Given the description of an element on the screen output the (x, y) to click on. 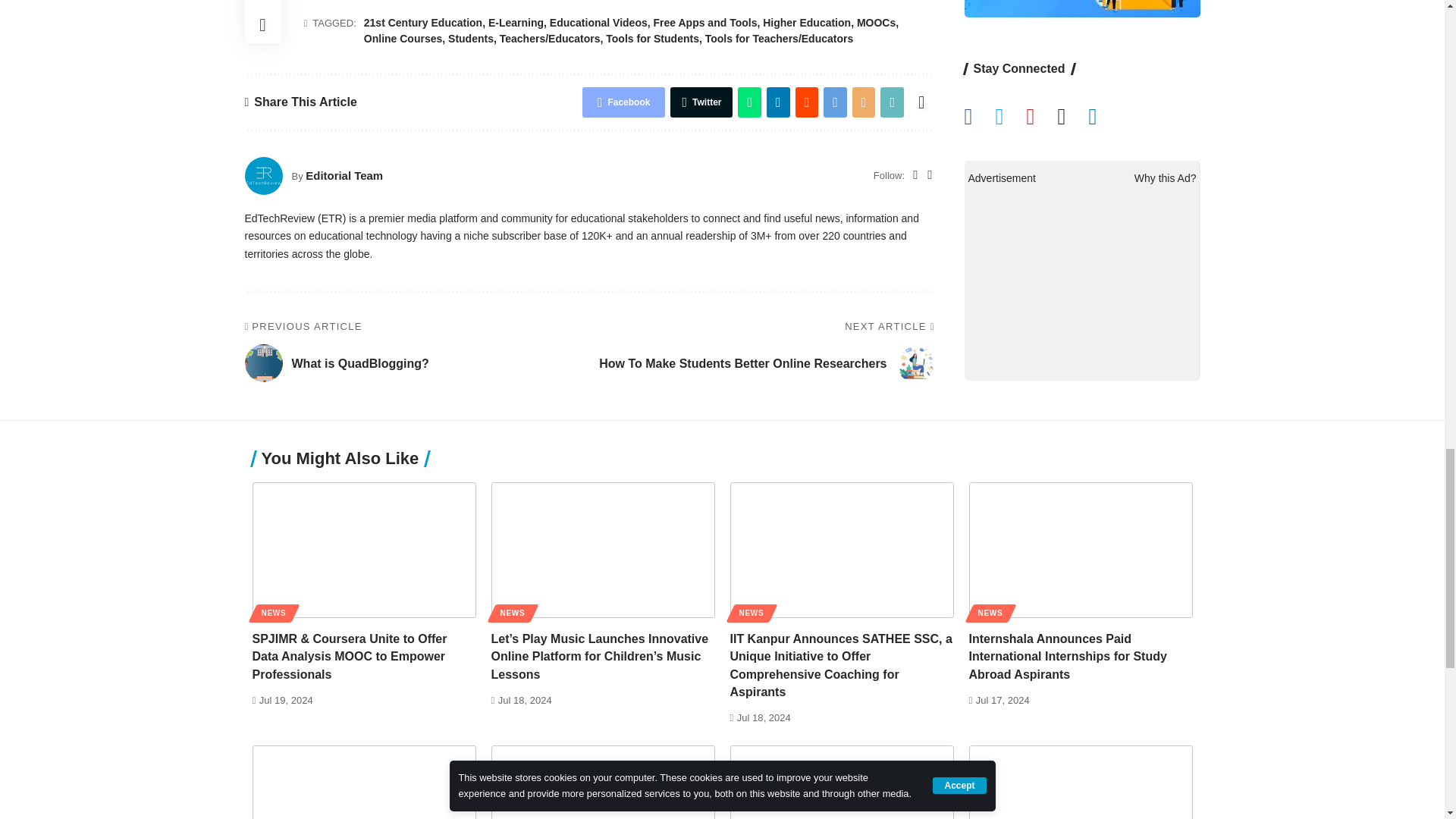
How to Make Students Better Online Researchers (915, 362)
Editorial Team Icon 2 (263, 175)
Quadblogging Meaning (263, 362)
